Given the description of an element on the screen output the (x, y) to click on. 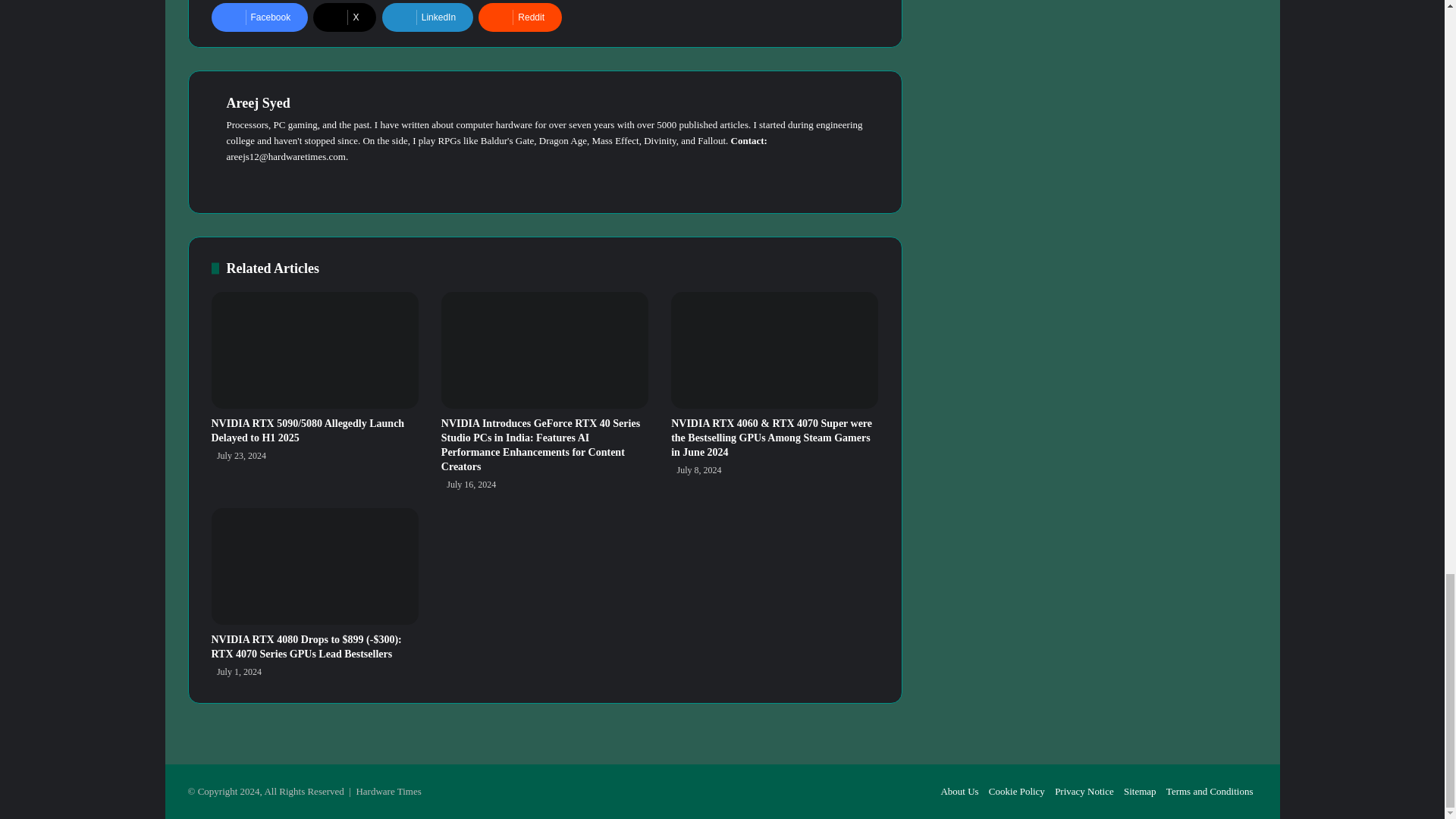
Facebook (259, 17)
LinkedIn (427, 17)
X (344, 17)
Reddit (520, 17)
